Given the description of an element on the screen output the (x, y) to click on. 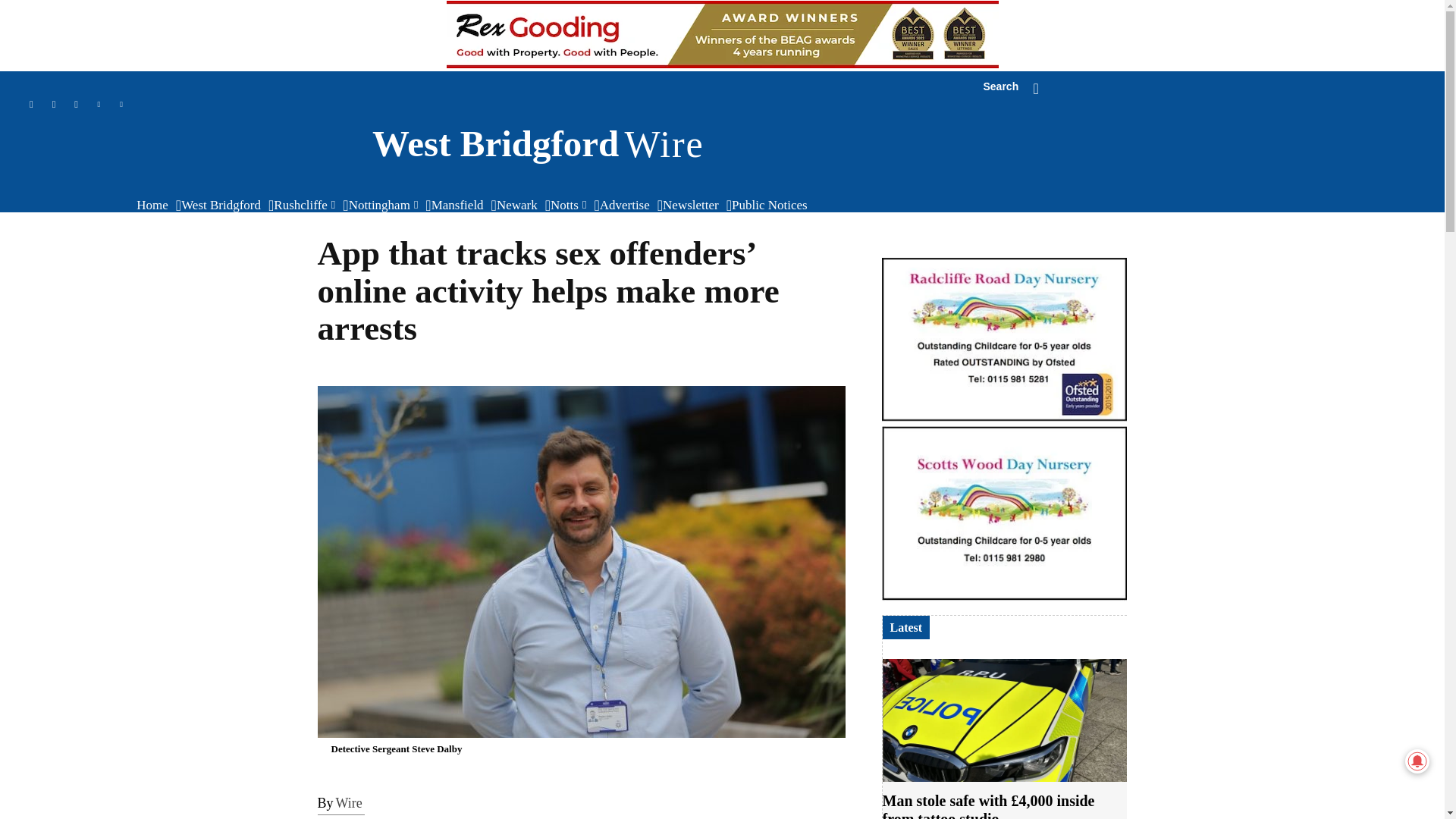
Linkedin (97, 104)
Instagram (54, 104)
Tiktok (30, 104)
Facebook (75, 104)
Screen-Shot-2016-06-02-at-10.03.14 (1003, 513)
Screen-Shot-2016-06-02-at-10.03.04 (1003, 339)
Twitter (121, 104)
